Given the description of an element on the screen output the (x, y) to click on. 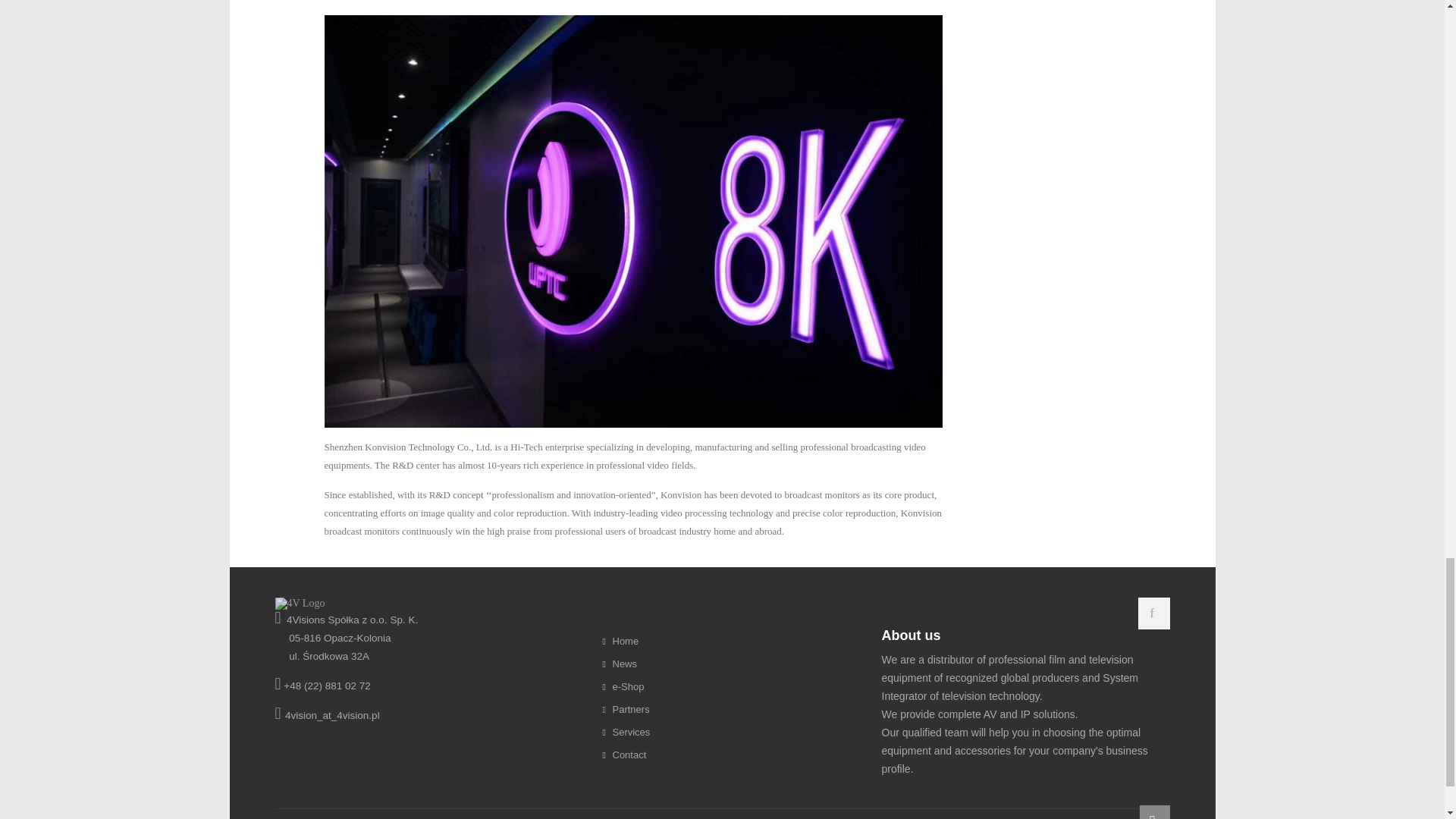
e-Shop (739, 687)
News (739, 664)
Contact (739, 755)
Services (739, 732)
Partners (739, 710)
Home (739, 641)
